Given the description of an element on the screen output the (x, y) to click on. 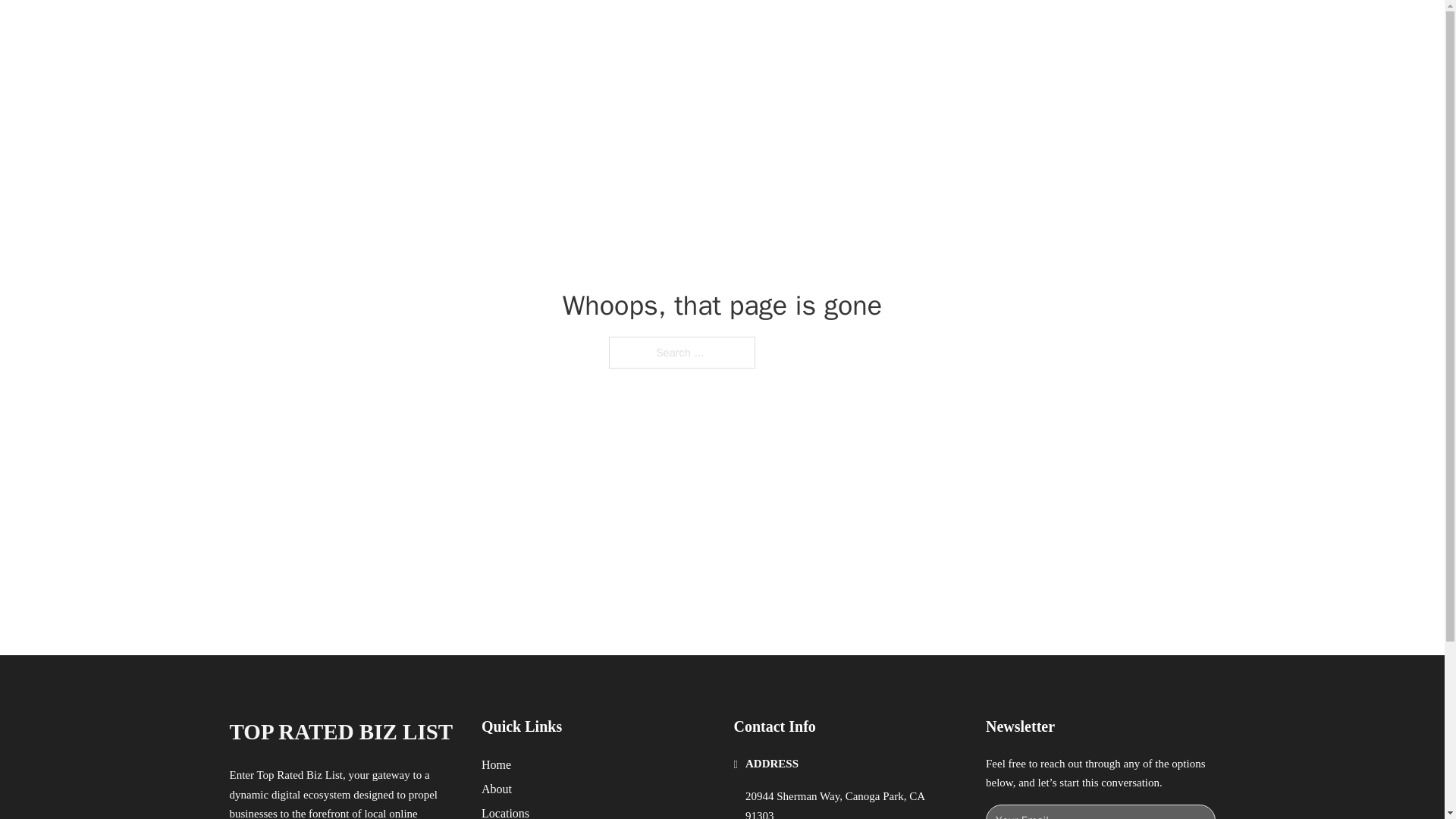
TOP RATED BIZ LIST (410, 28)
TOP RATED BIZ LIST (340, 732)
Home (496, 764)
Locations (505, 811)
About (496, 788)
